Given the description of an element on the screen output the (x, y) to click on. 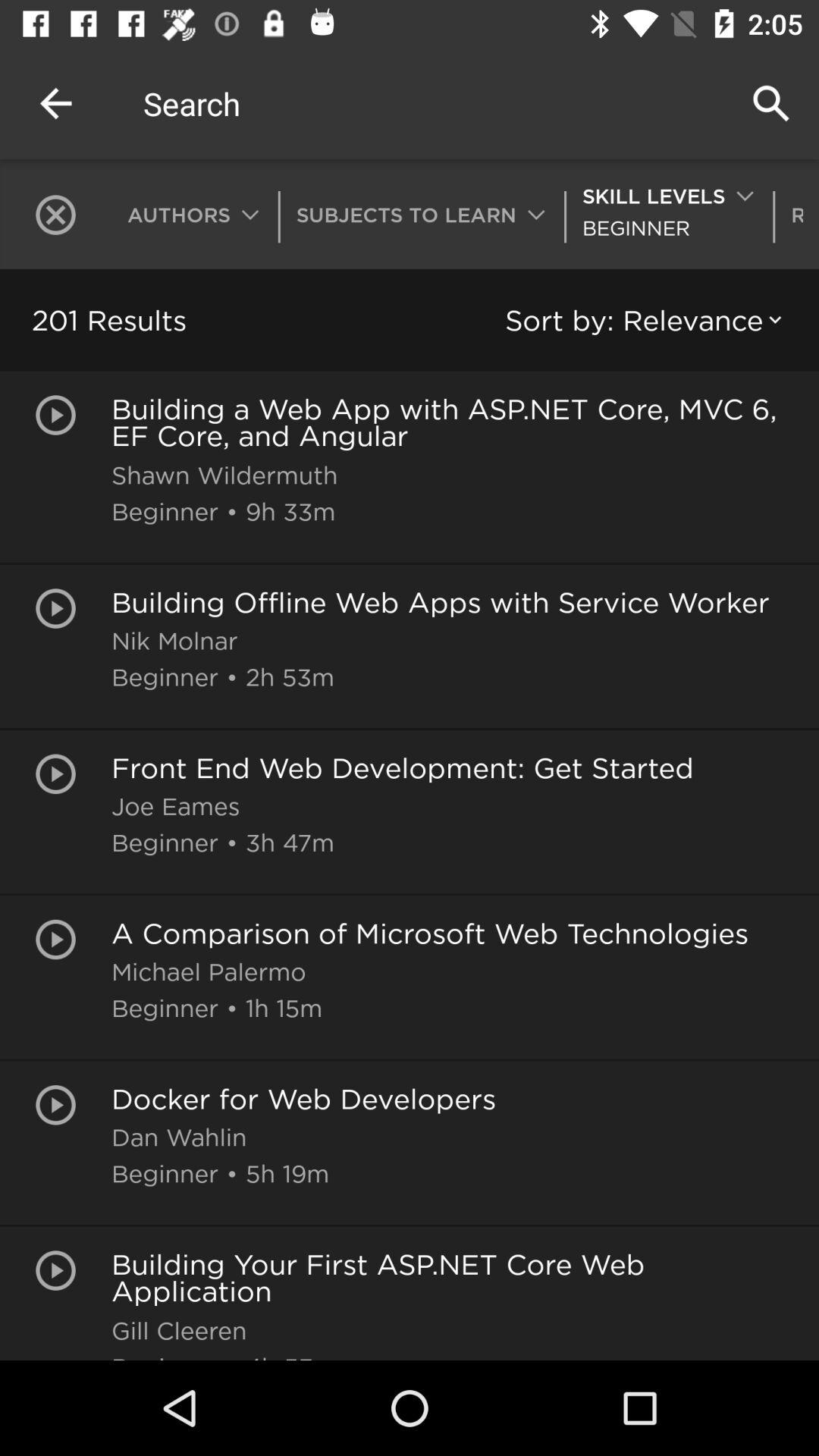
open the item next to search (55, 103)
